Given the description of an element on the screen output the (x, y) to click on. 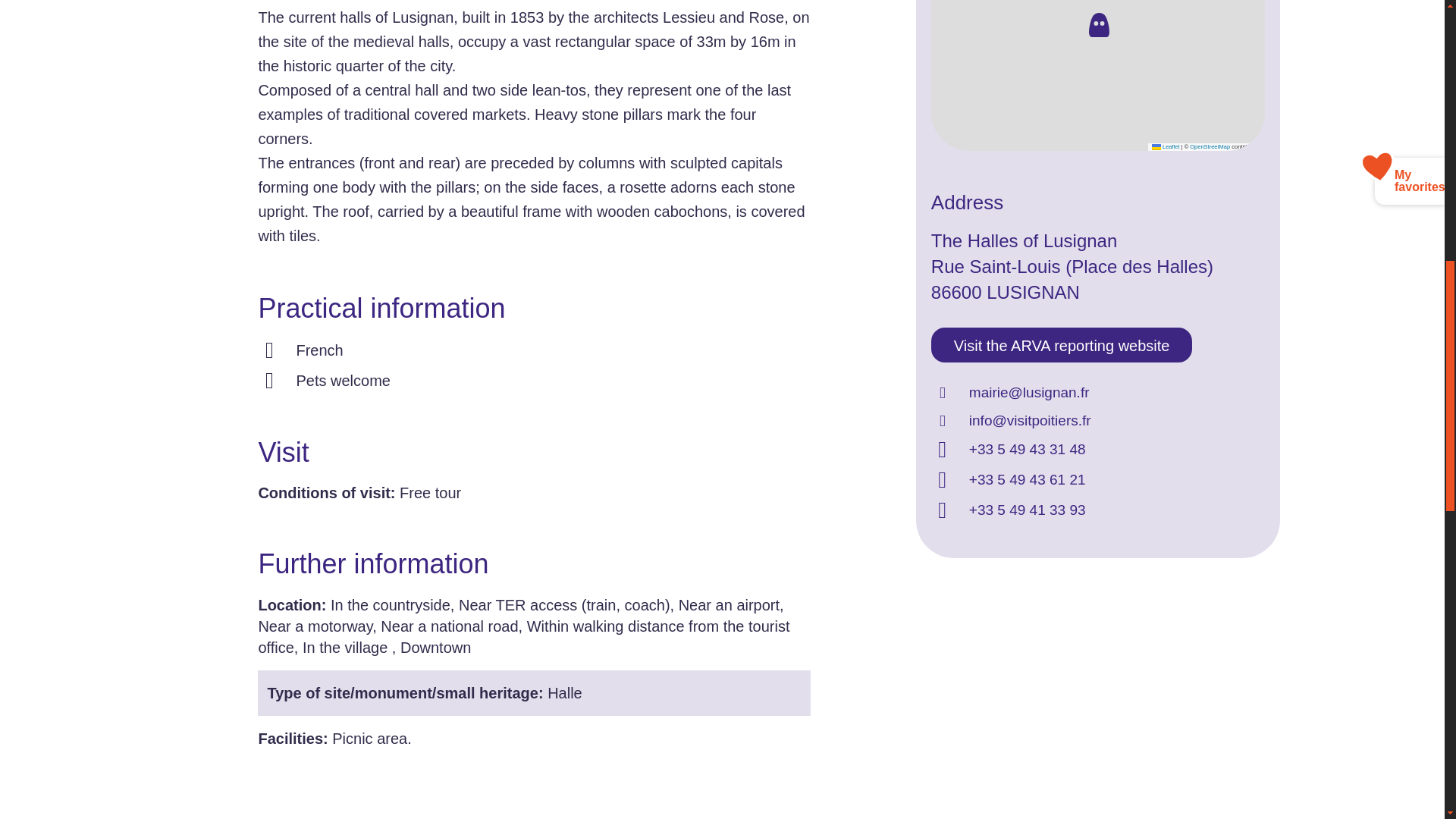
A JavaScript library for interactive maps (1165, 145)
